Given the description of an element on the screen output the (x, y) to click on. 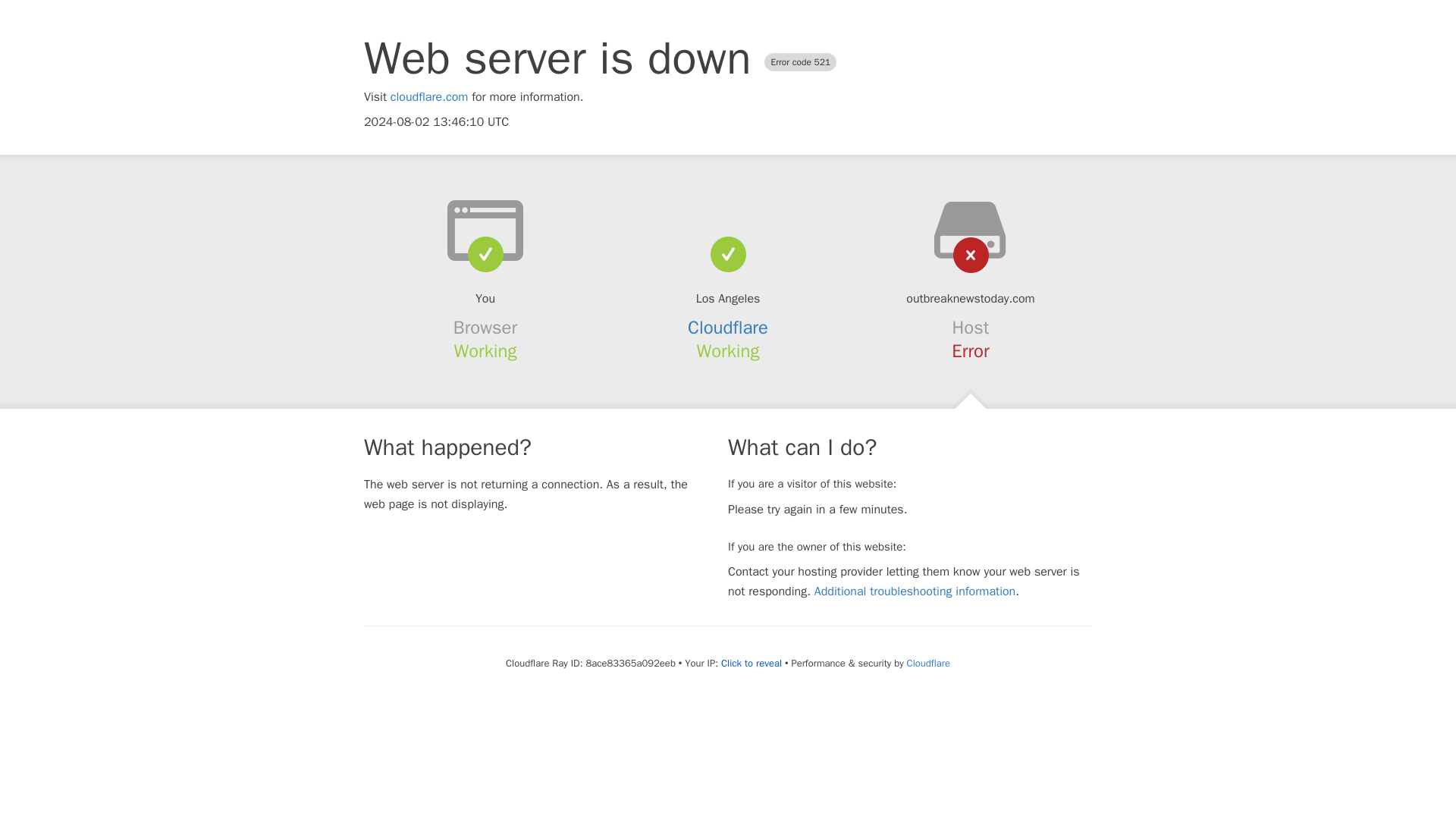
Cloudflare (727, 327)
Additional troubleshooting information (913, 590)
cloudflare.com (429, 96)
Cloudflare (928, 662)
Click to reveal (750, 663)
